Given the description of an element on the screen output the (x, y) to click on. 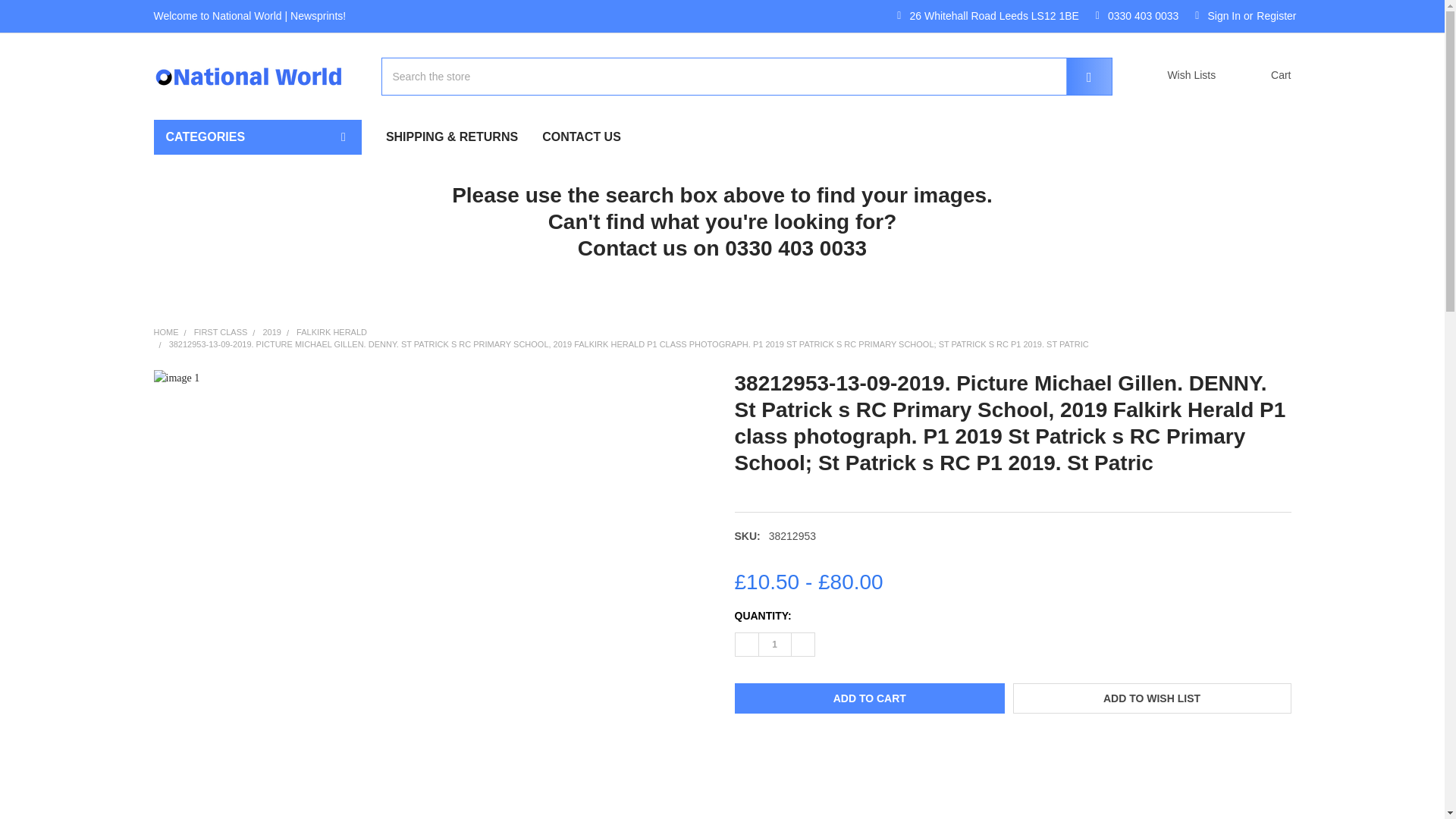
Cart (1260, 75)
Wish Lists (1179, 75)
1 (774, 644)
Add to Cart (868, 698)
Search (1078, 76)
Cart (1260, 75)
Pompey Fan Pics (257, 379)
Search (1078, 76)
0330 403 0033 (1137, 16)
Sign In (1217, 16)
CATEGORIES (256, 136)
Chesterfield FC Promotion Celebrations (257, 387)
Register (1275, 16)
Wish Lists (1179, 75)
